Given the description of an element on the screen output the (x, y) to click on. 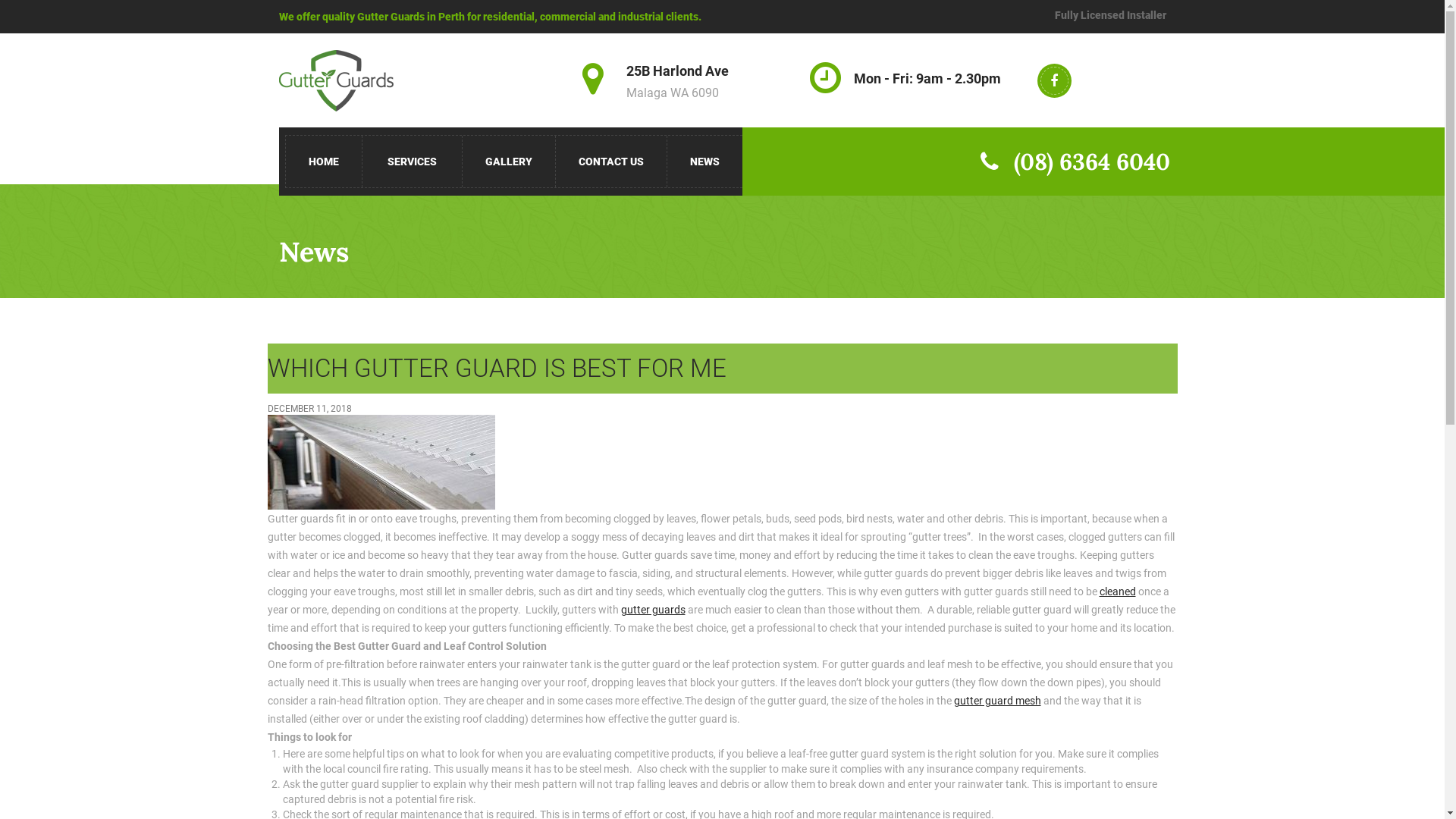
(08) 6364 6040 Element type: text (1046, 161)
Fully Licensed Installer Element type: text (1109, 14)
gutter guards Element type: text (652, 609)
GALLERY Element type: text (508, 161)
NEWS Element type: text (704, 161)
DECEMBER 11, 2018 Element type: text (308, 408)
HOME Element type: text (323, 161)
CONTACT US Element type: text (610, 161)
SERVICES Element type: text (412, 161)
gutter guard mesh Element type: text (997, 700)
cleaned Element type: text (1117, 591)
